Given the description of an element on the screen output the (x, y) to click on. 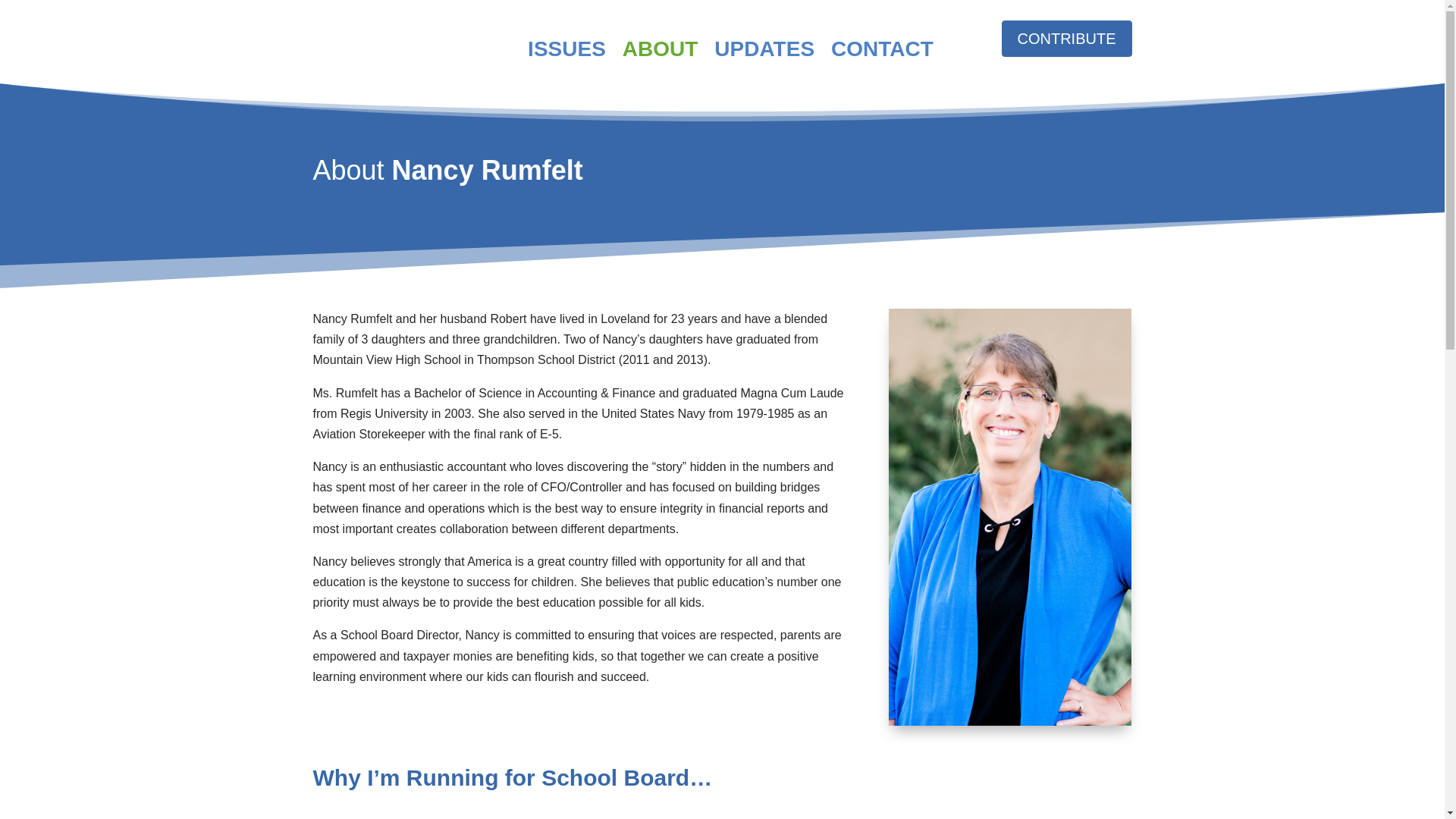
CONTRIBUTE (1066, 38)
ISSUES (566, 48)
UPDATES (763, 48)
CONTACT (882, 48)
ABOUT (660, 48)
